Given the description of an element on the screen output the (x, y) to click on. 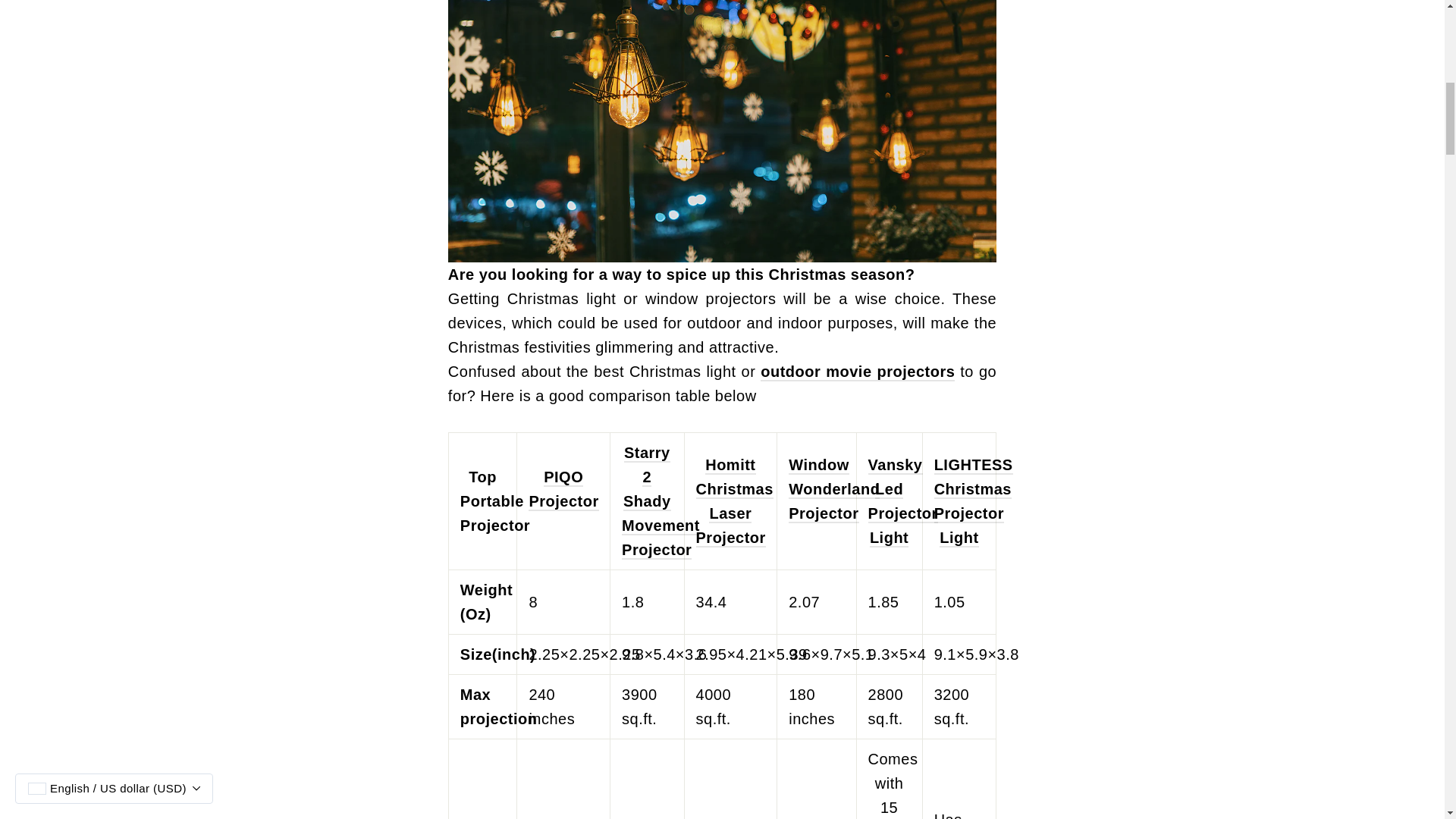
outdoor movie projectors (857, 372)
PIQO Projector (563, 489)
Window Wonderland Projector (834, 489)
